Given the description of an element on the screen output the (x, y) to click on. 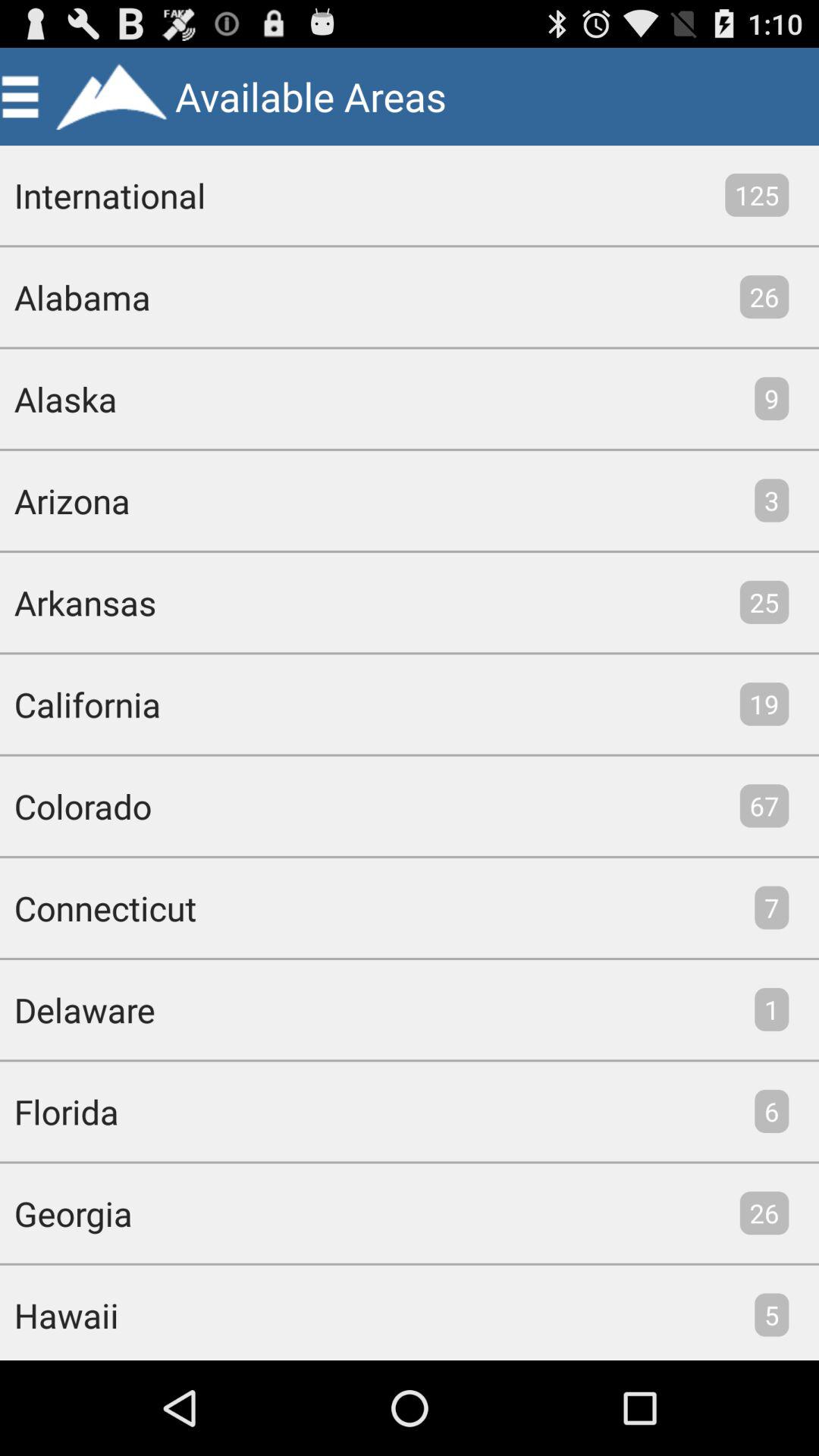
scroll to 7 (771, 907)
